Given the description of an element on the screen output the (x, y) to click on. 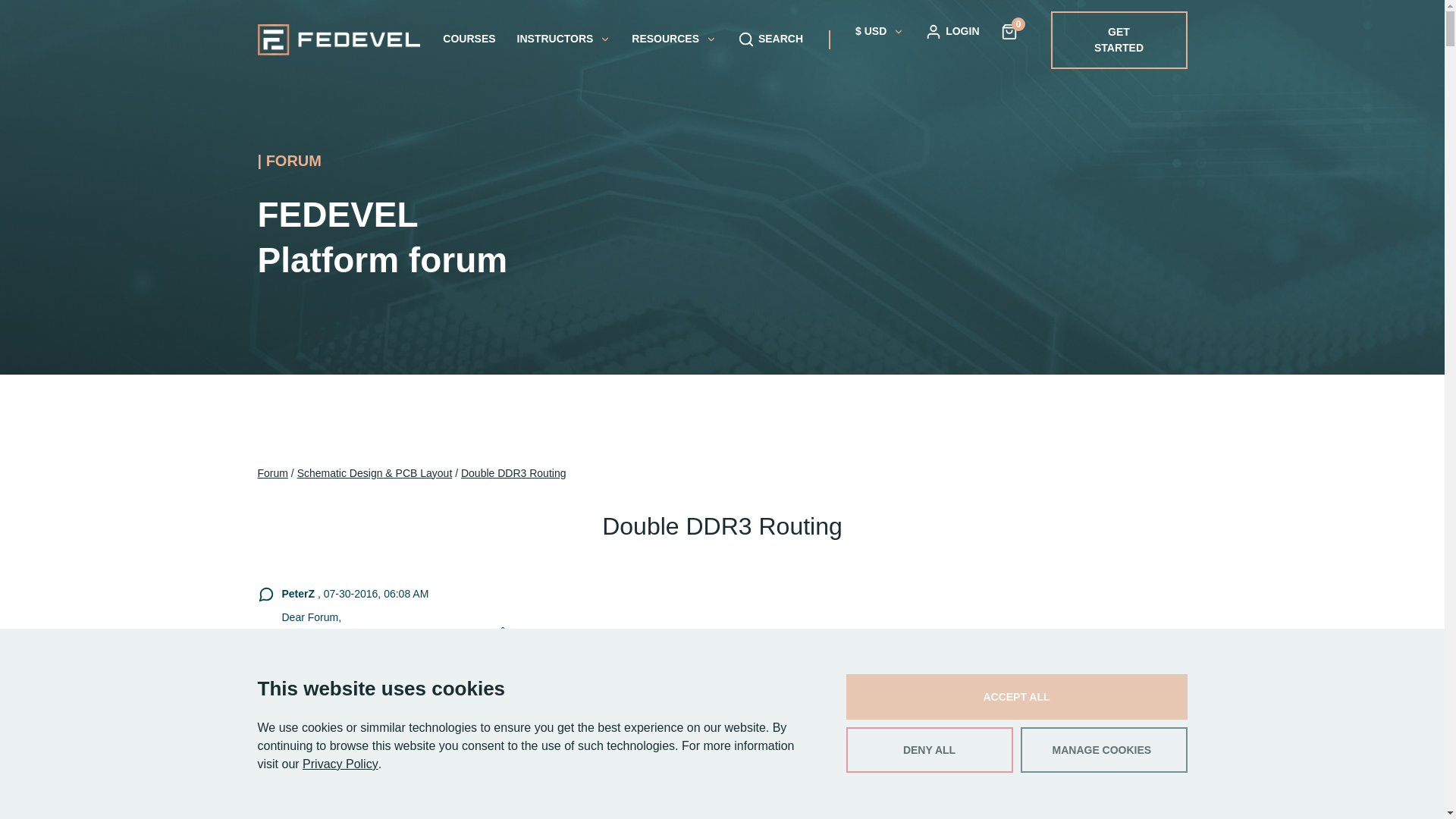
MANAGE COOKIES (1104, 750)
INSTRUCTORS  (563, 38)
Forum (272, 473)
Privacy Policy (340, 764)
0 (1009, 30)
DENY ALL (929, 750)
GET STARTED (1119, 38)
RESOURCES  (673, 38)
ACCEPT ALL (1016, 696)
COURSES (468, 38)
